Given the description of an element on the screen output the (x, y) to click on. 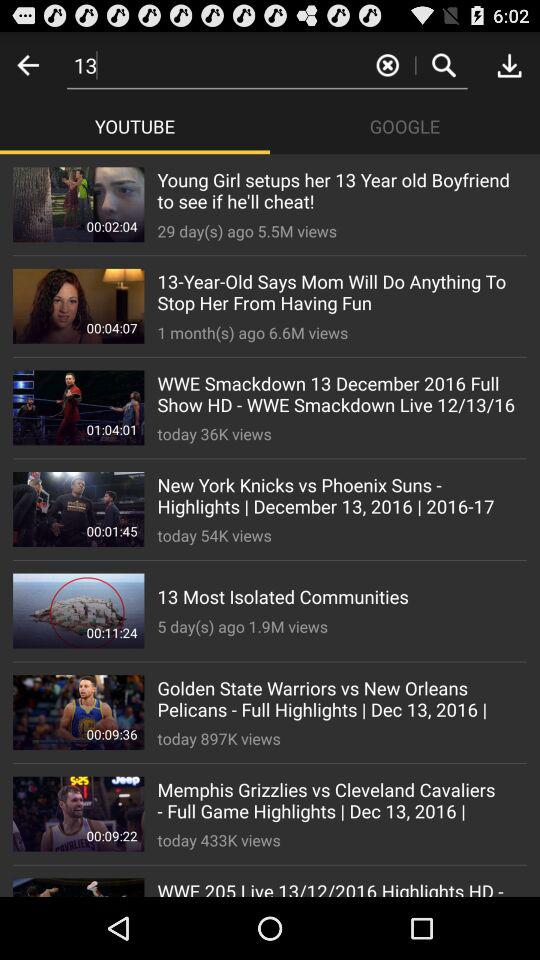
cancel search query (387, 64)
